Given the description of an element on the screen output the (x, y) to click on. 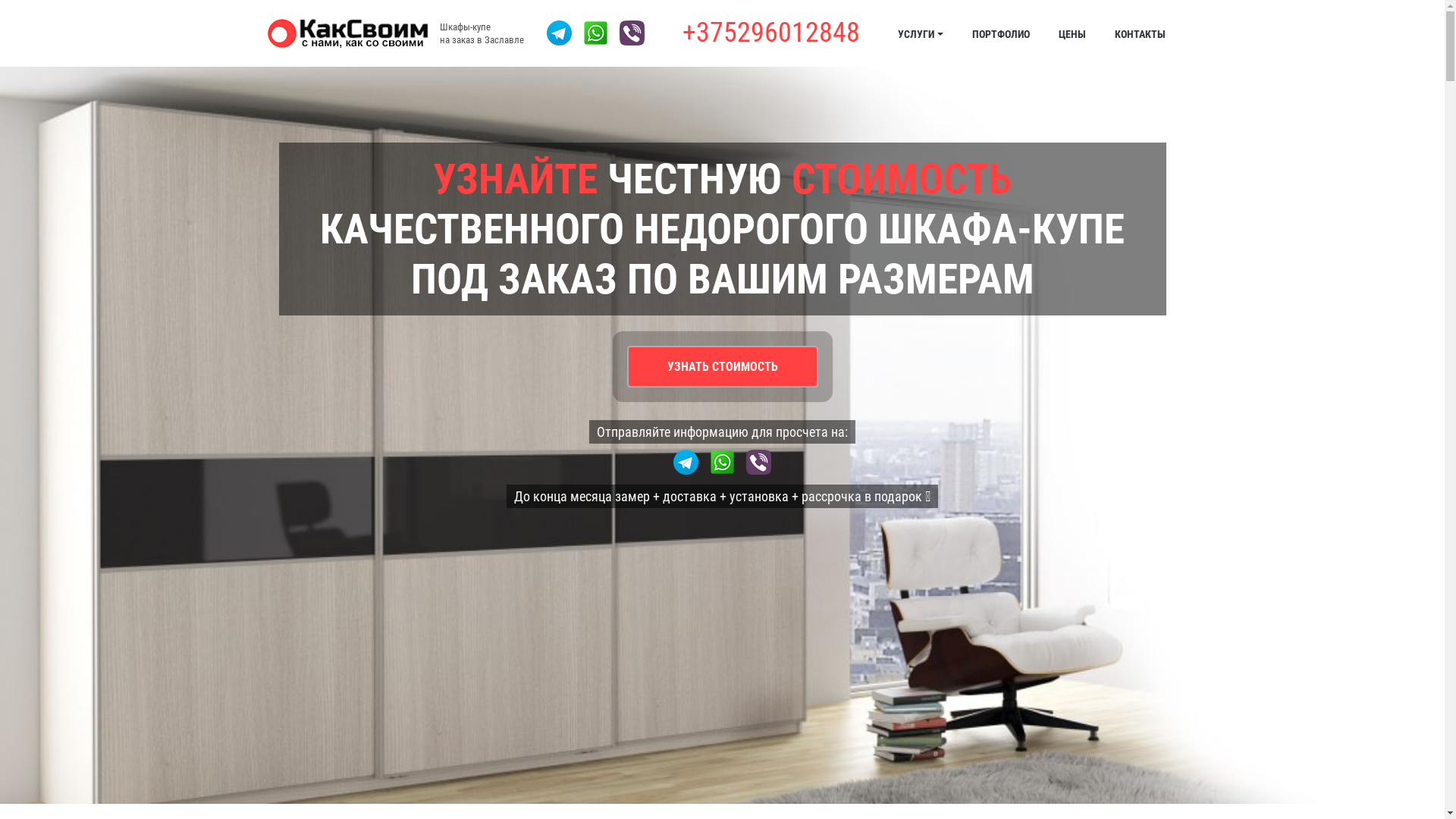
+375296012848 Element type: text (770, 33)
